Given the description of an element on the screen output the (x, y) to click on. 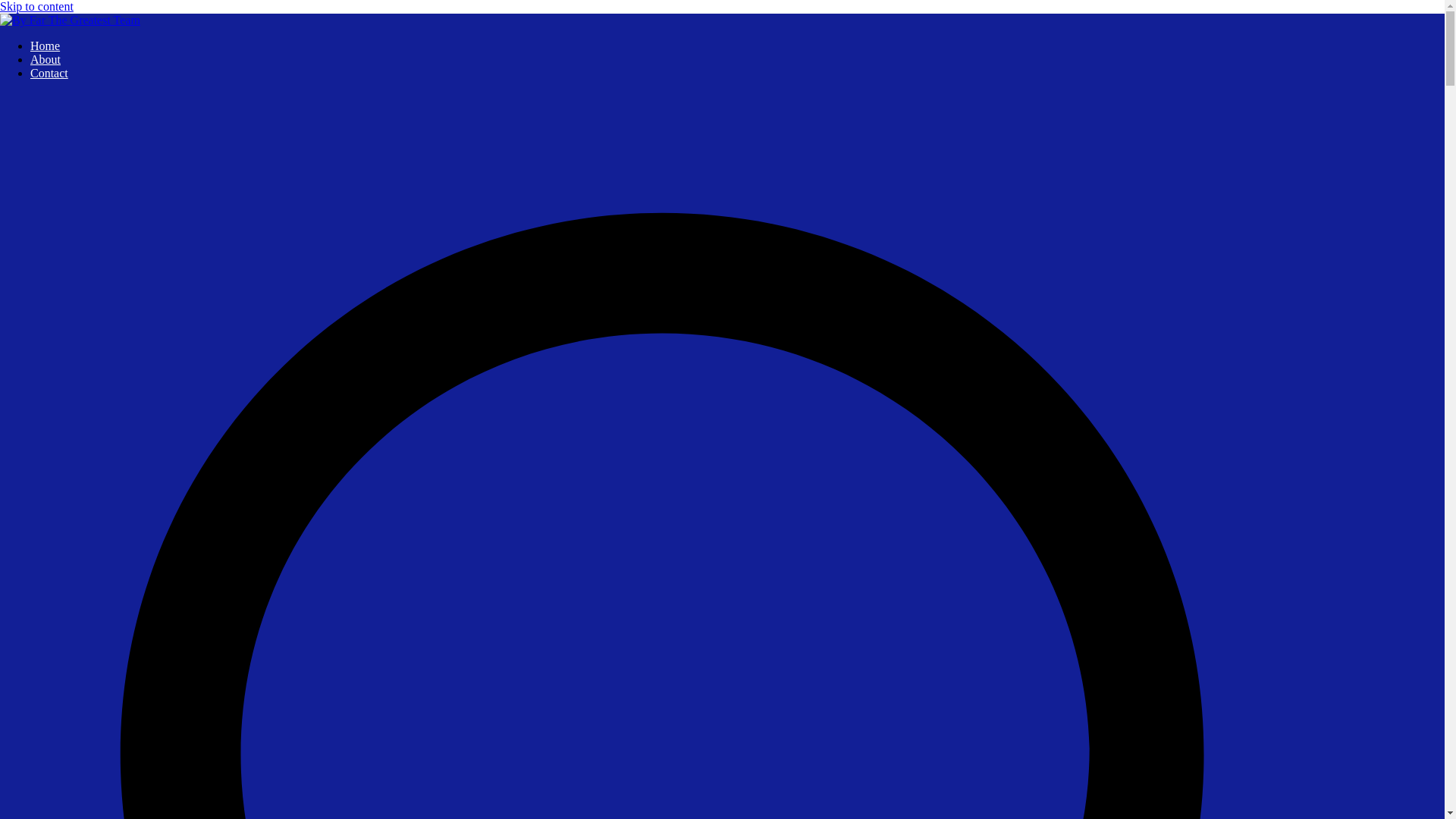
Contact (49, 72)
Skip to content (37, 6)
By Far The Greatest Team (64, 45)
Home (44, 45)
About (45, 59)
